Given the description of an element on the screen output the (x, y) to click on. 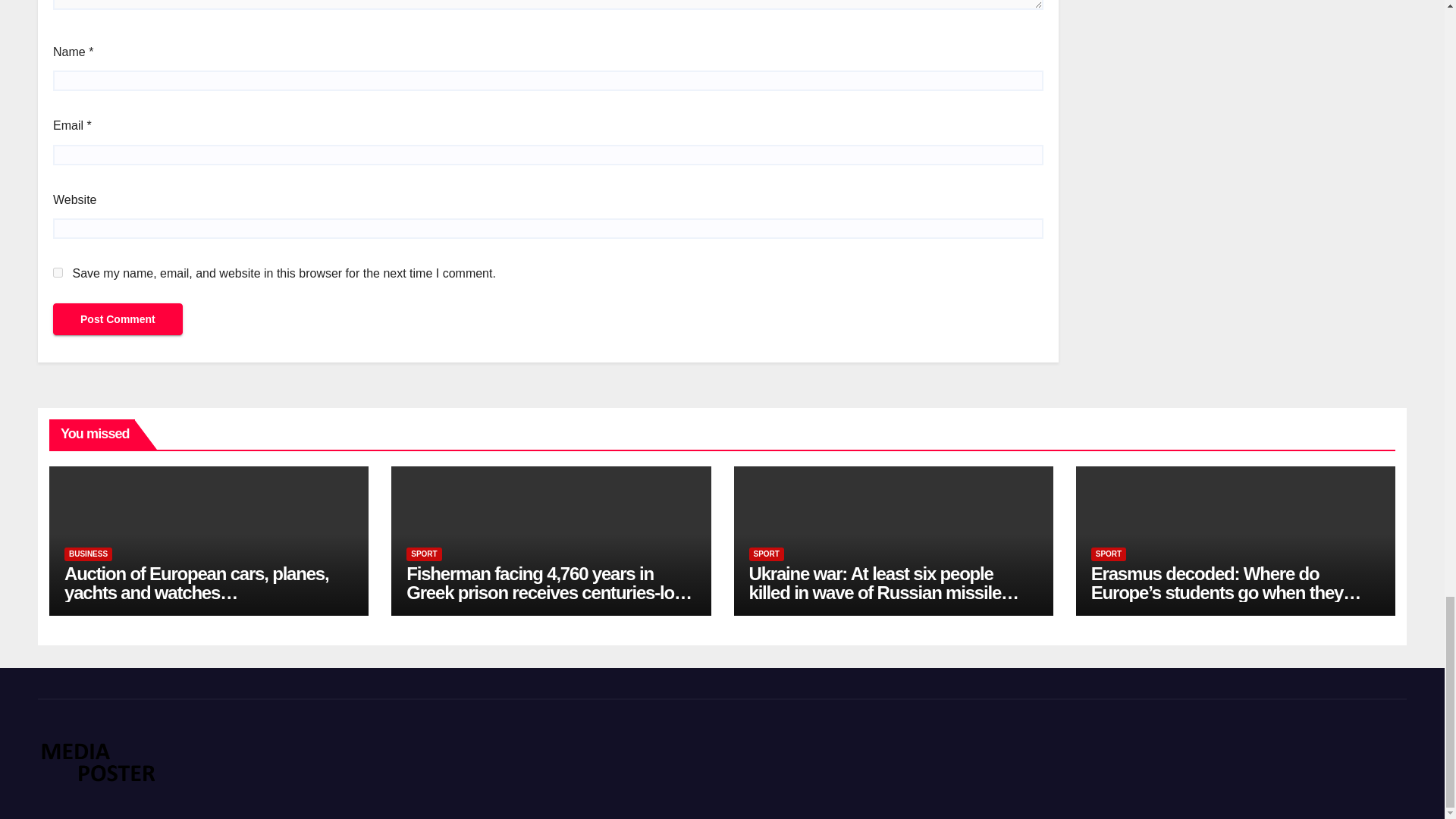
Post Comment (117, 318)
yes (57, 272)
Post Comment (117, 318)
